Given the description of an element on the screen output the (x, y) to click on. 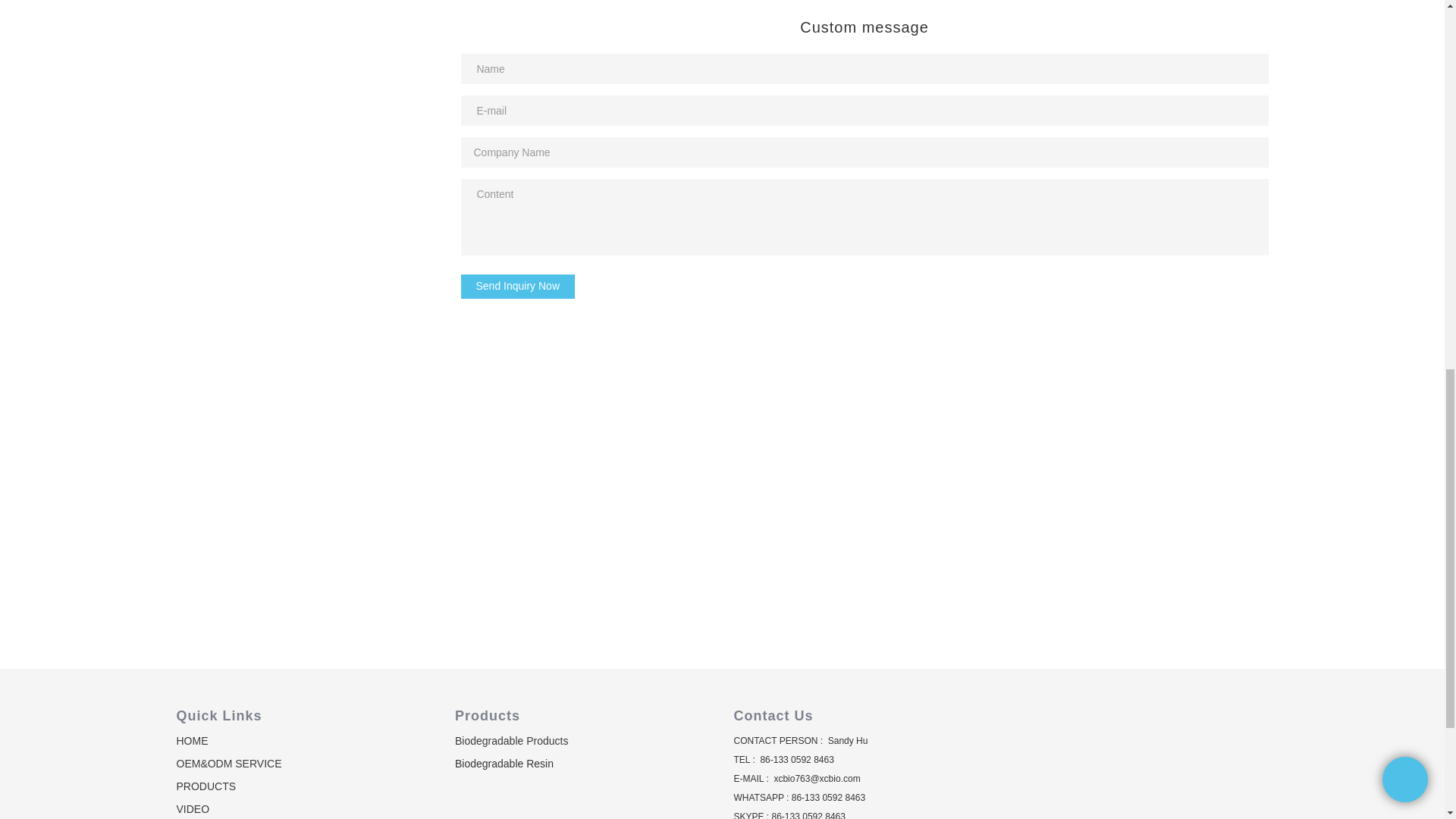
Send Inquiry Now (518, 286)
